Given the description of an element on the screen output the (x, y) to click on. 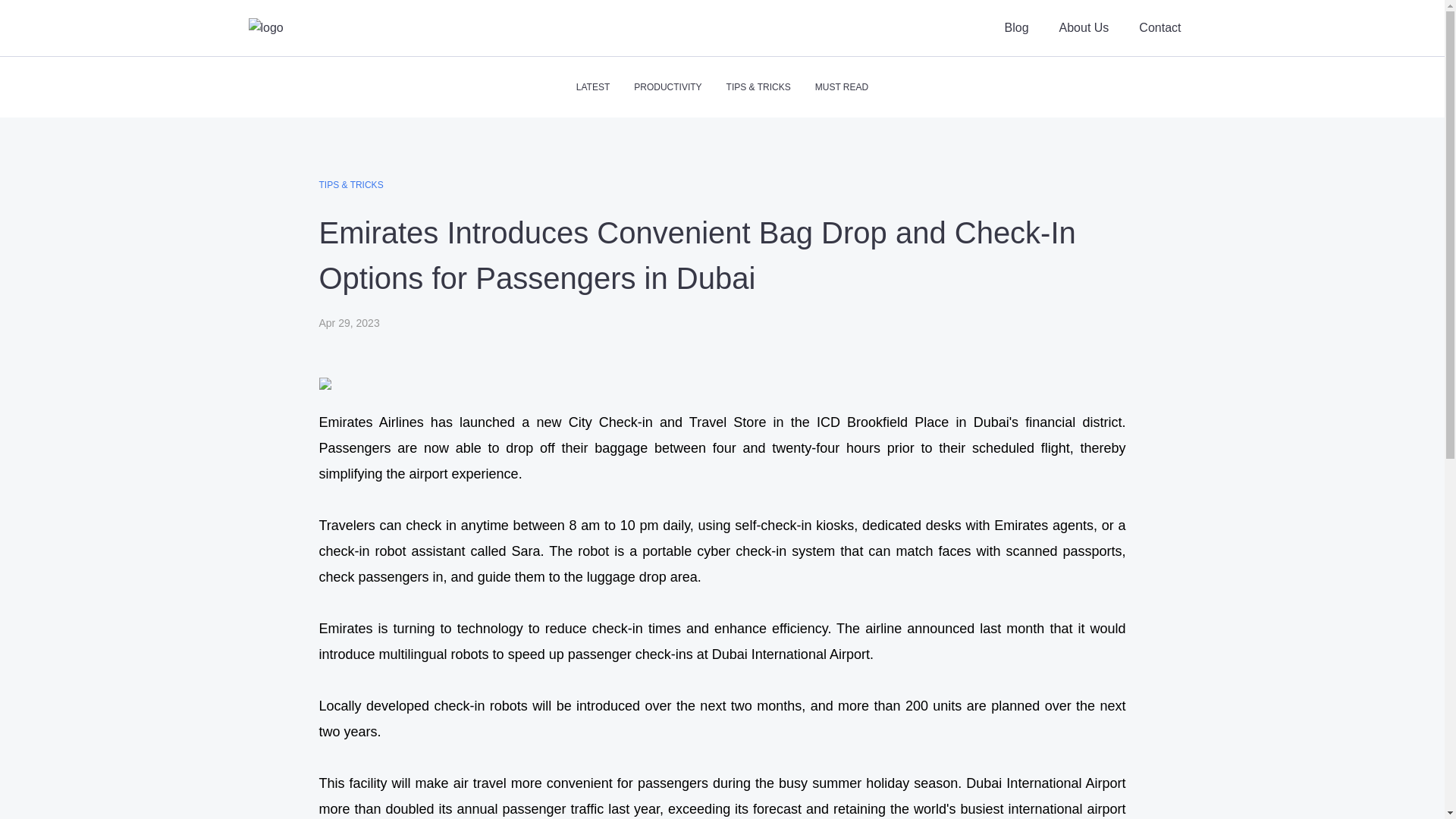
MUST READ (841, 87)
About Us (1084, 27)
Contact (1159, 27)
Blog (1016, 27)
PRODUCTIVITY (667, 87)
